Given the description of an element on the screen output the (x, y) to click on. 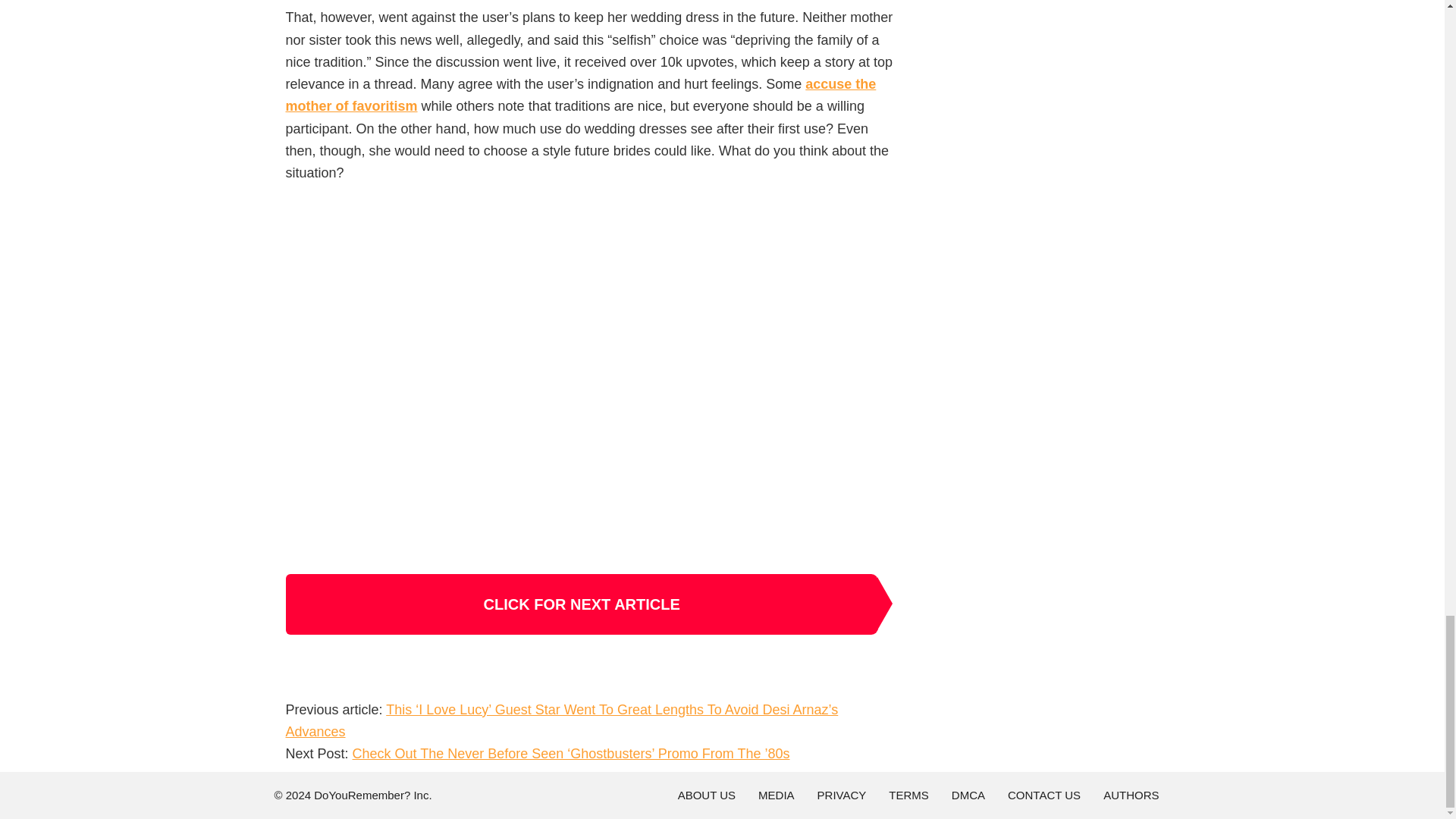
accuse the mother of favoritism (580, 94)
